Given the description of an element on the screen output the (x, y) to click on. 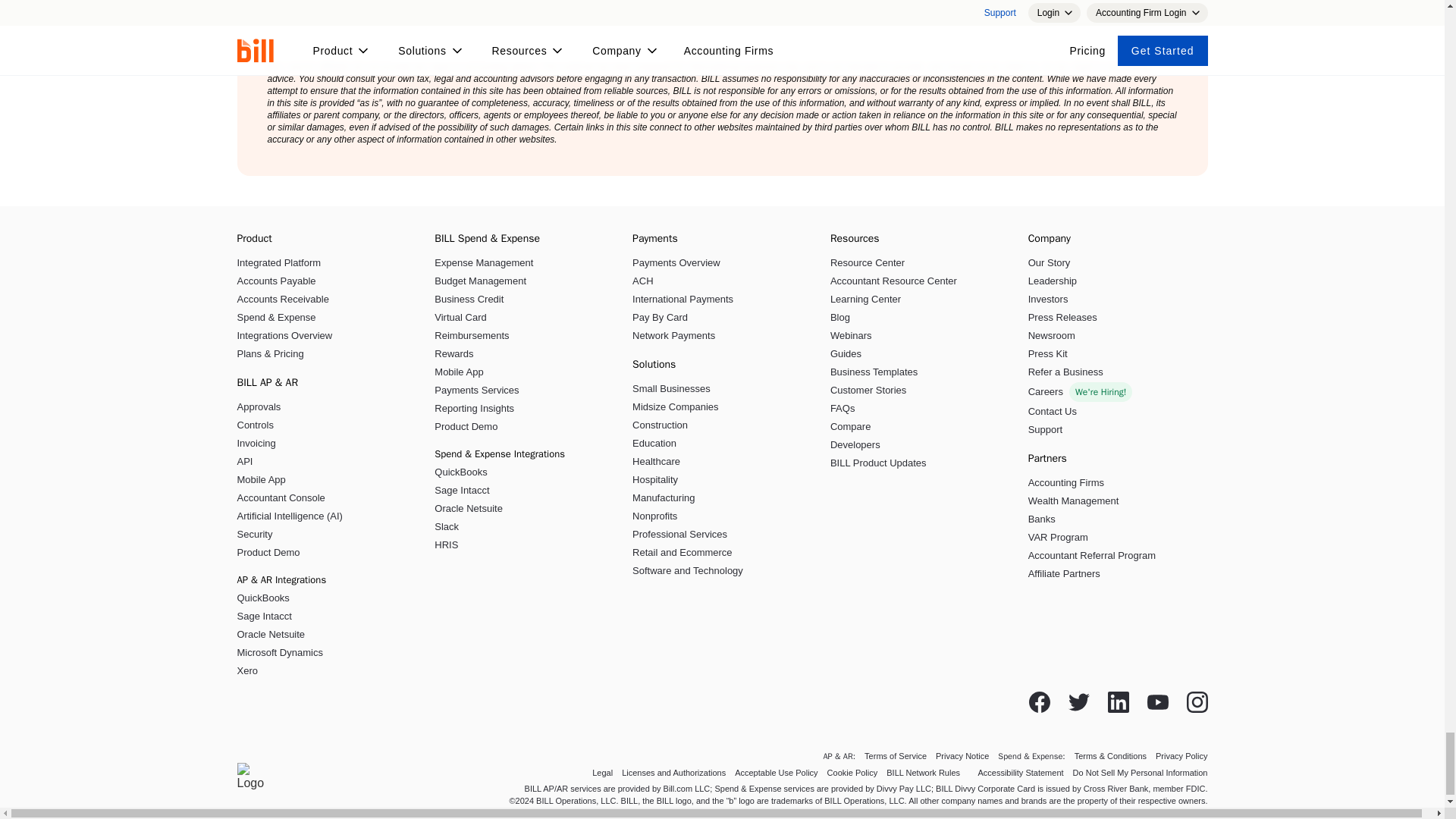
Instagram icon (1196, 701)
Twitter icon (1078, 701)
Facebook icon (1038, 701)
YouTube icon (1157, 701)
LinkedIn icon (1117, 701)
